Given the description of an element on the screen output the (x, y) to click on. 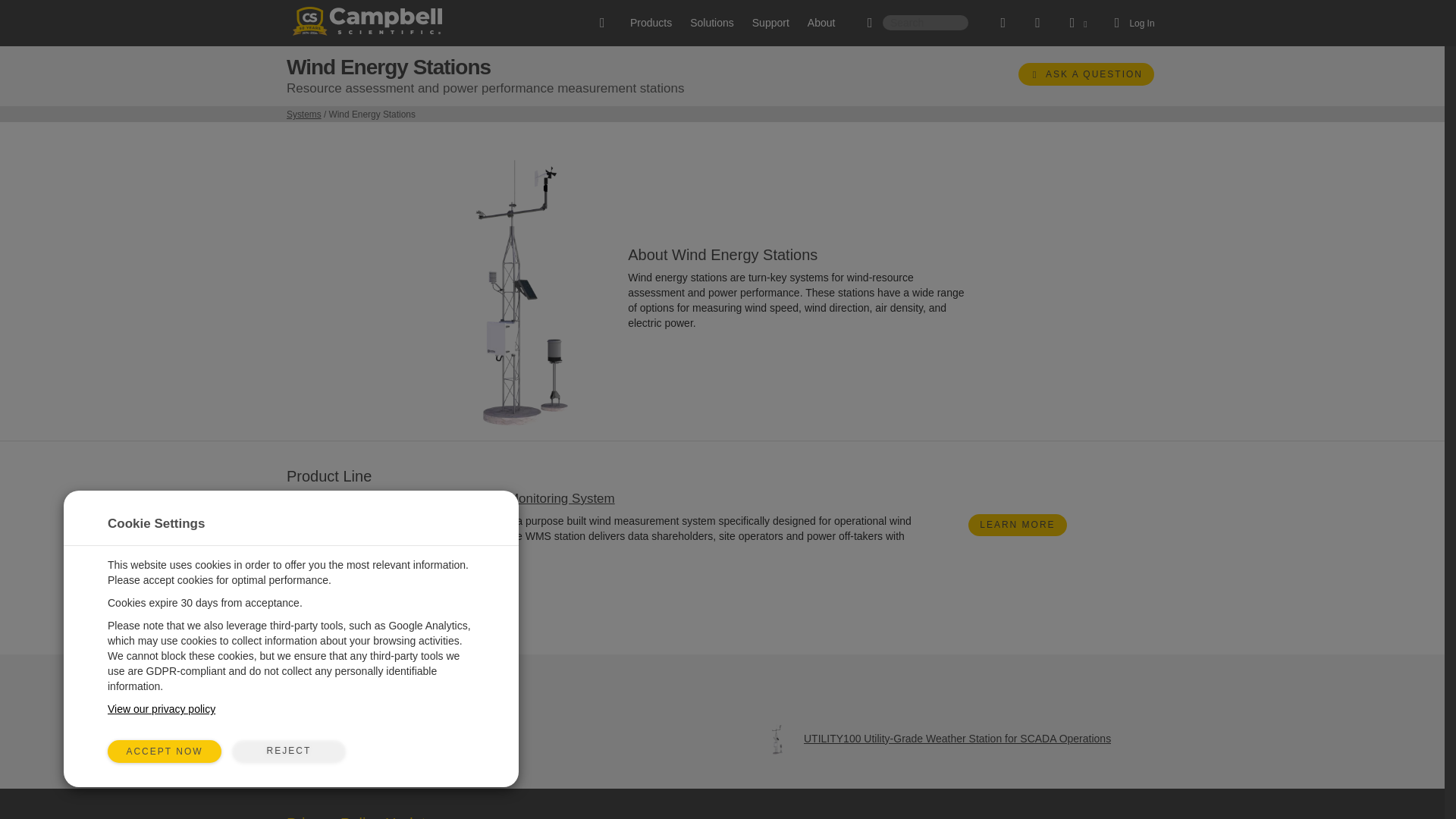
About (820, 22)
Support (769, 22)
Products (651, 22)
ASK A QUESTION (1085, 74)
Solutions (711, 22)
read more (493, 551)
Login (1131, 22)
Log In (1131, 22)
Systems (303, 113)
WMS100 Wind Energy Meteorological Monitoring System (450, 498)
